Given the description of an element on the screen output the (x, y) to click on. 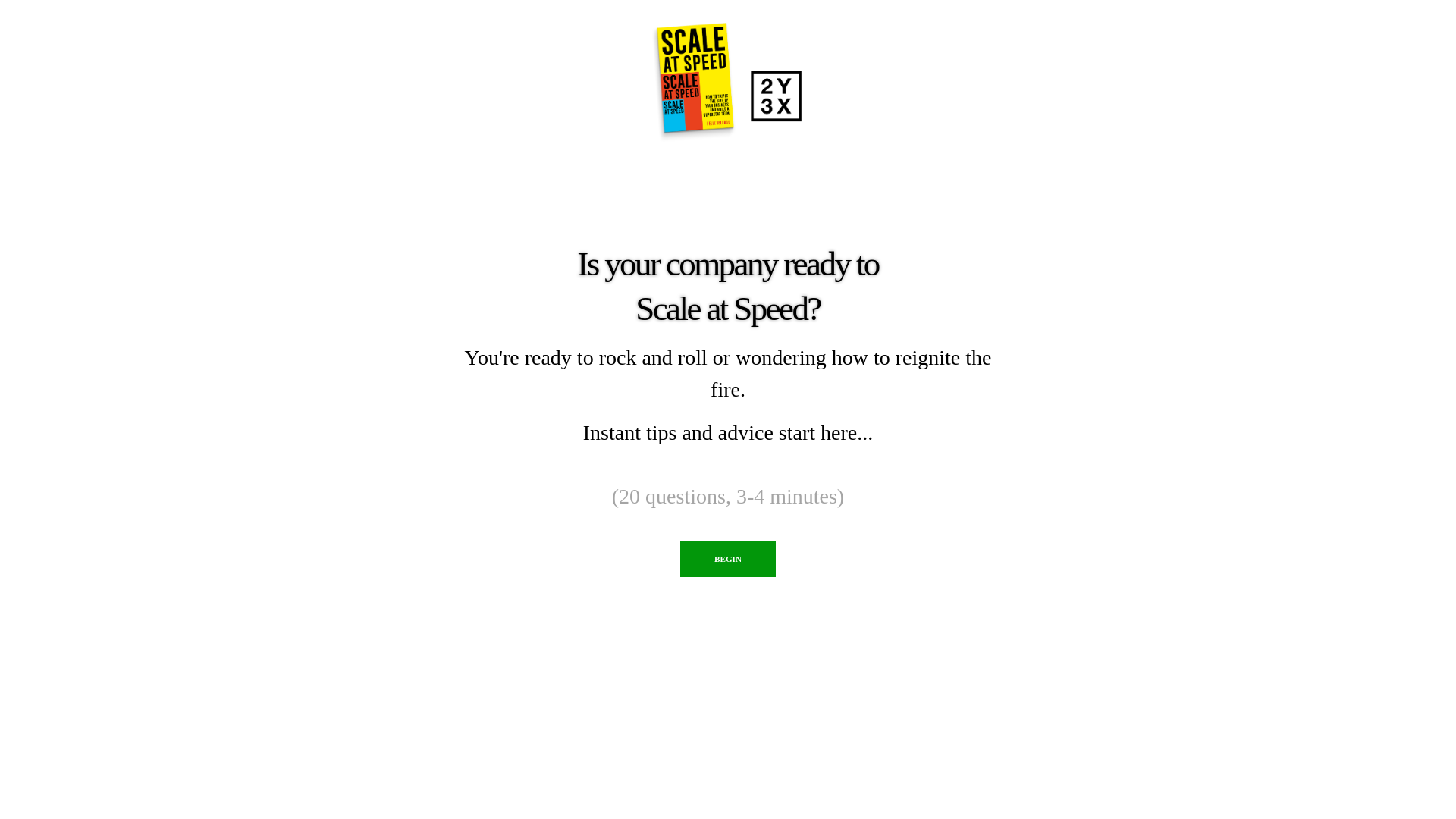
BEGIN Element type: text (727, 559)
